Given the description of an element on the screen output the (x, y) to click on. 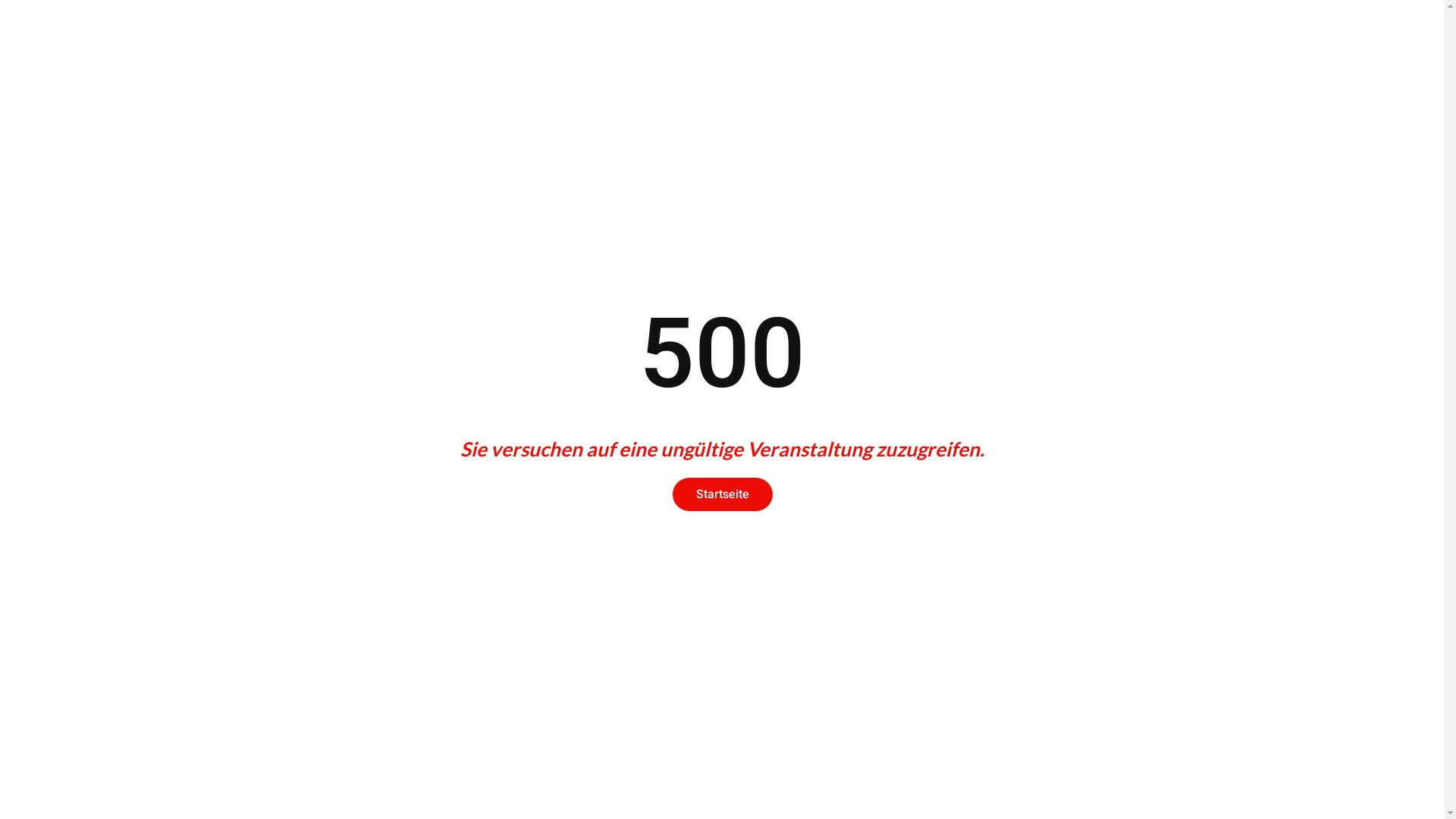
Startseite Element type: text (721, 494)
